Given the description of an element on the screen output the (x, y) to click on. 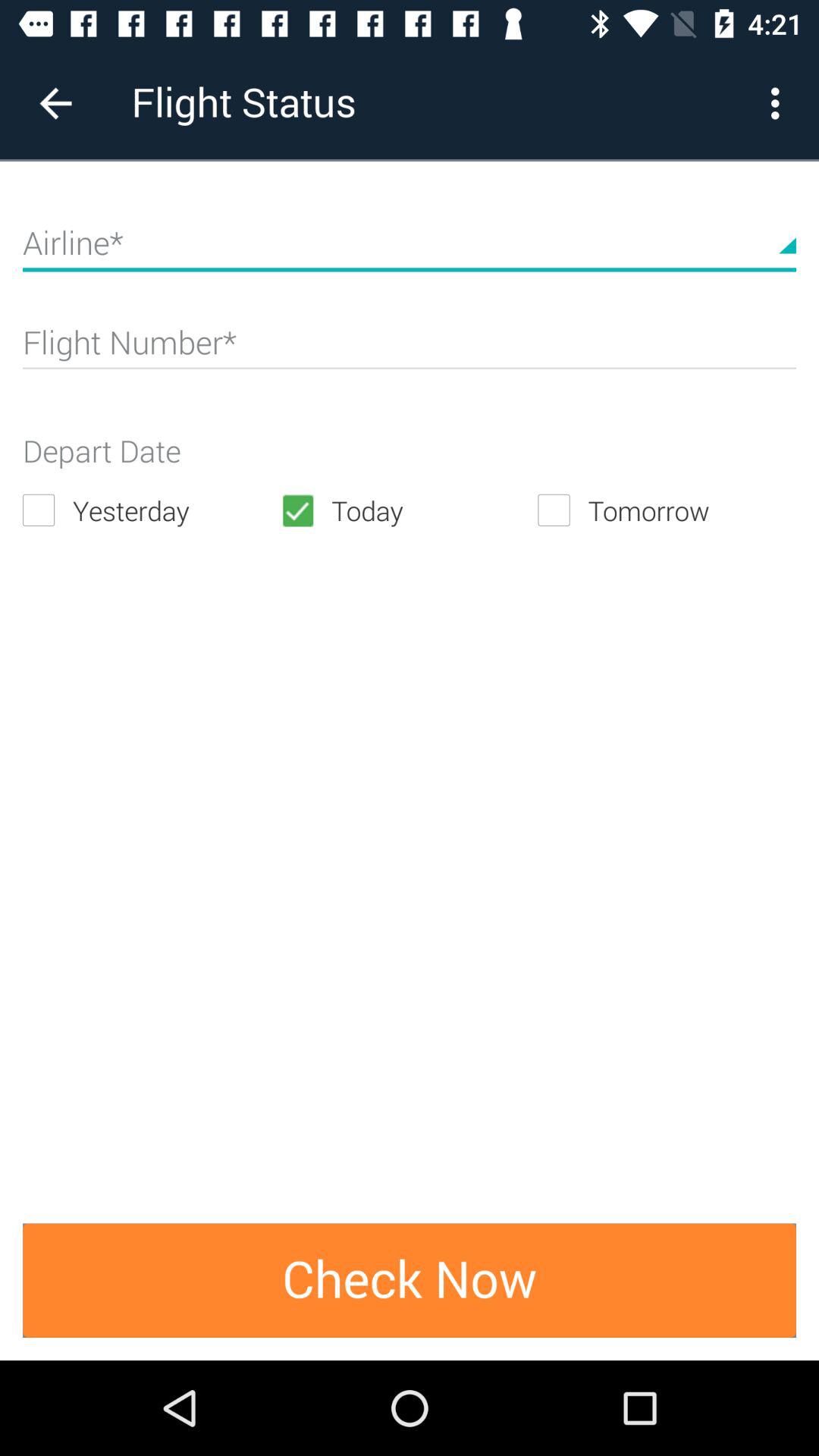
choose icon next to the today icon (667, 510)
